Given the description of an element on the screen output the (x, y) to click on. 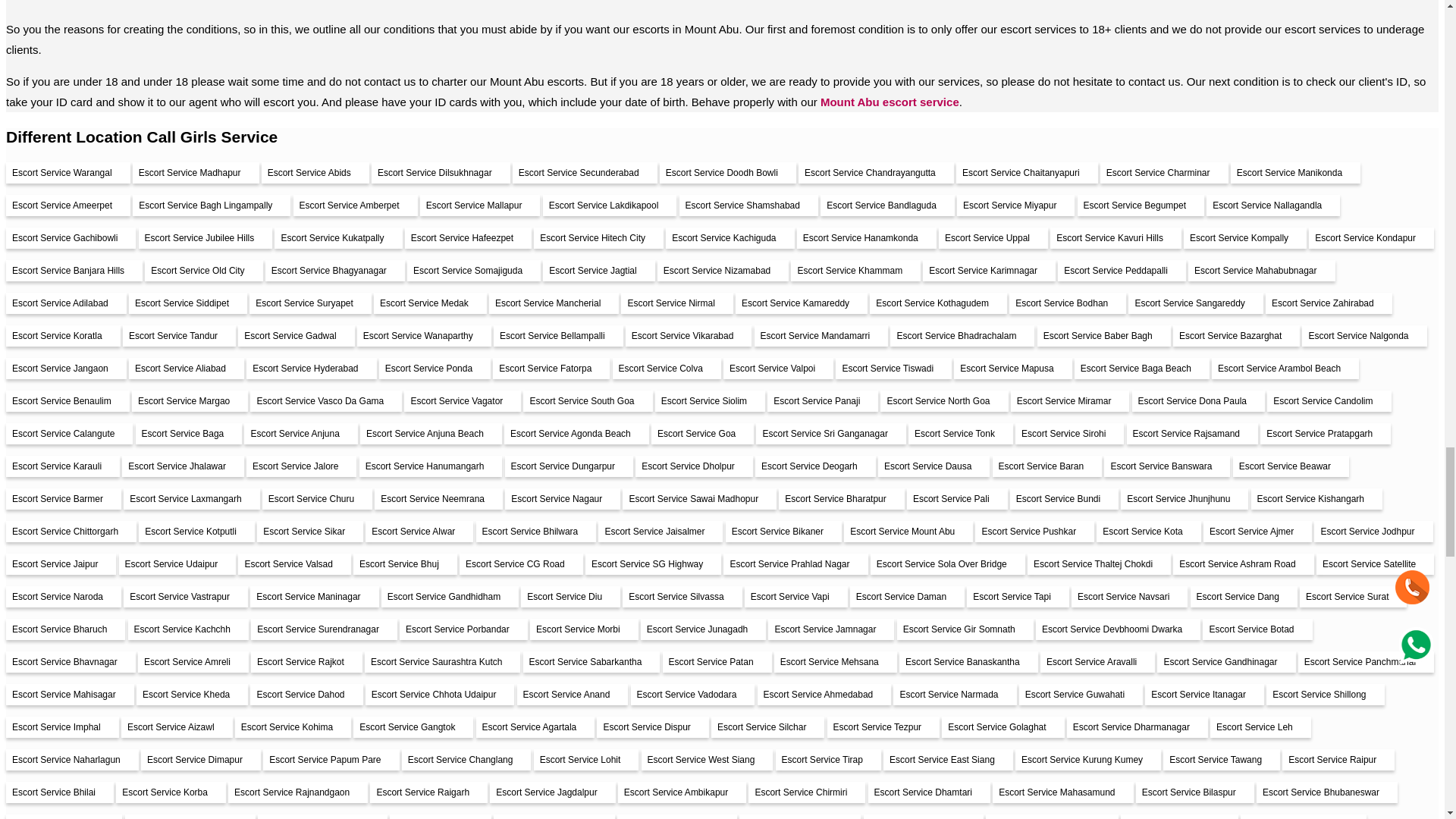
Escort Service Shamshabad (748, 205)
Escort Service Bagh Lingampally (210, 205)
Escort Service Miyapur (1015, 205)
Escort Service Warangal (68, 172)
Escort Service Ameerpet (68, 205)
Escort Service Chandrayangutta (875, 172)
Mount Abu escort service (890, 101)
Escort Service Secunderabad (585, 172)
Escort Service Amberpet (354, 205)
Escort Service Manikonda (1294, 172)
Escort Service Begumpet (1140, 205)
Escort Service Chaitanyapuri (1026, 172)
Escort Service Charminar (1164, 172)
Escort Service Madhapur (195, 172)
Escort Service Abids (315, 172)
